Given the description of an element on the screen output the (x, y) to click on. 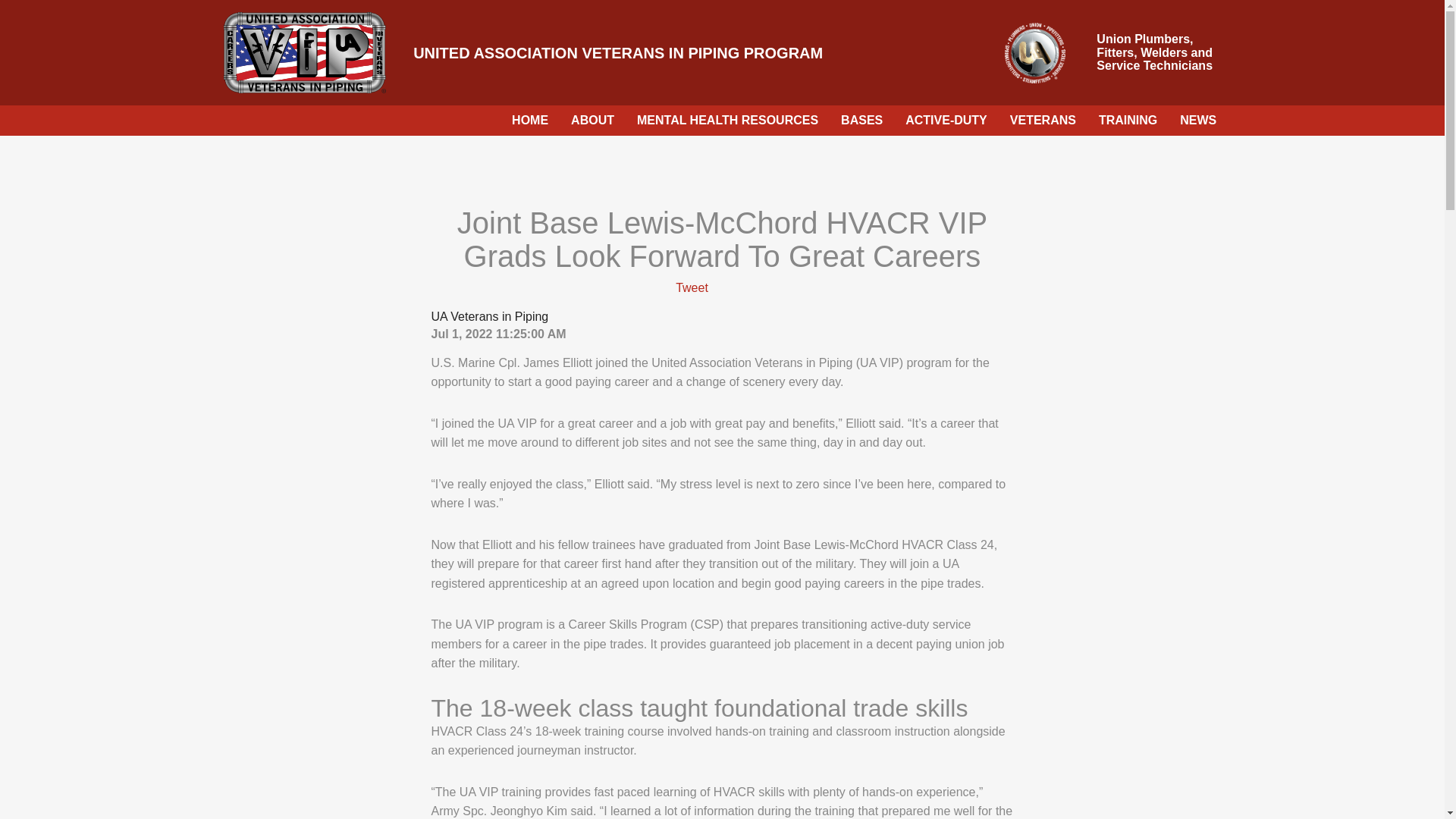
HOME (529, 119)
TRAINING (1128, 119)
NEWS (1198, 119)
ACTIVE-DUTY (945, 119)
ABOUT (592, 119)
Tweet (691, 287)
United Association Veterans In Piping Program logo (304, 52)
MENTAL HEALTH RESOURCES (727, 119)
BASES (861, 119)
